Given the description of an element on the screen output the (x, y) to click on. 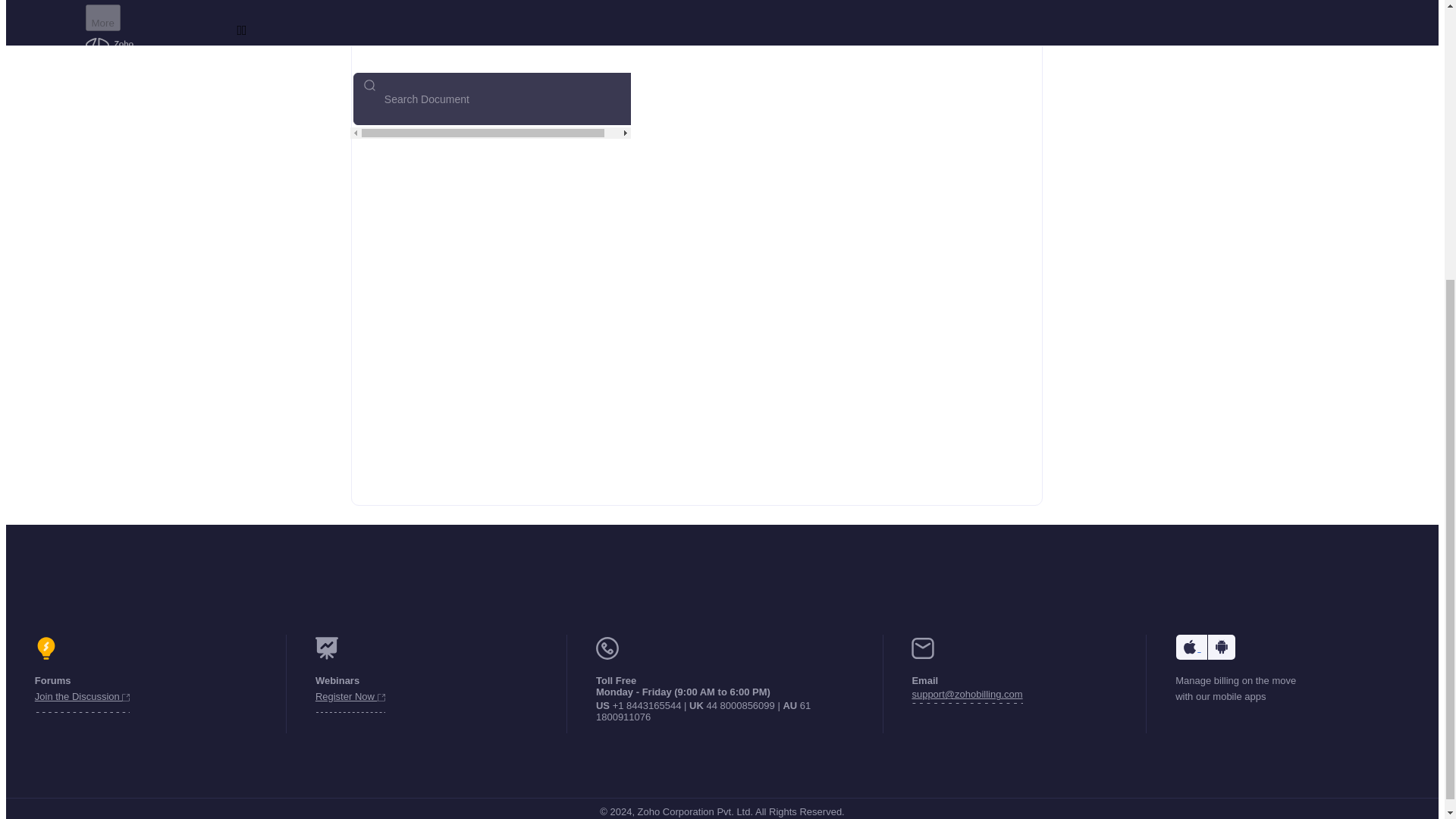
Register Now (350, 699)
Join the Discussion (82, 699)
